Given the description of an element on the screen output the (x, y) to click on. 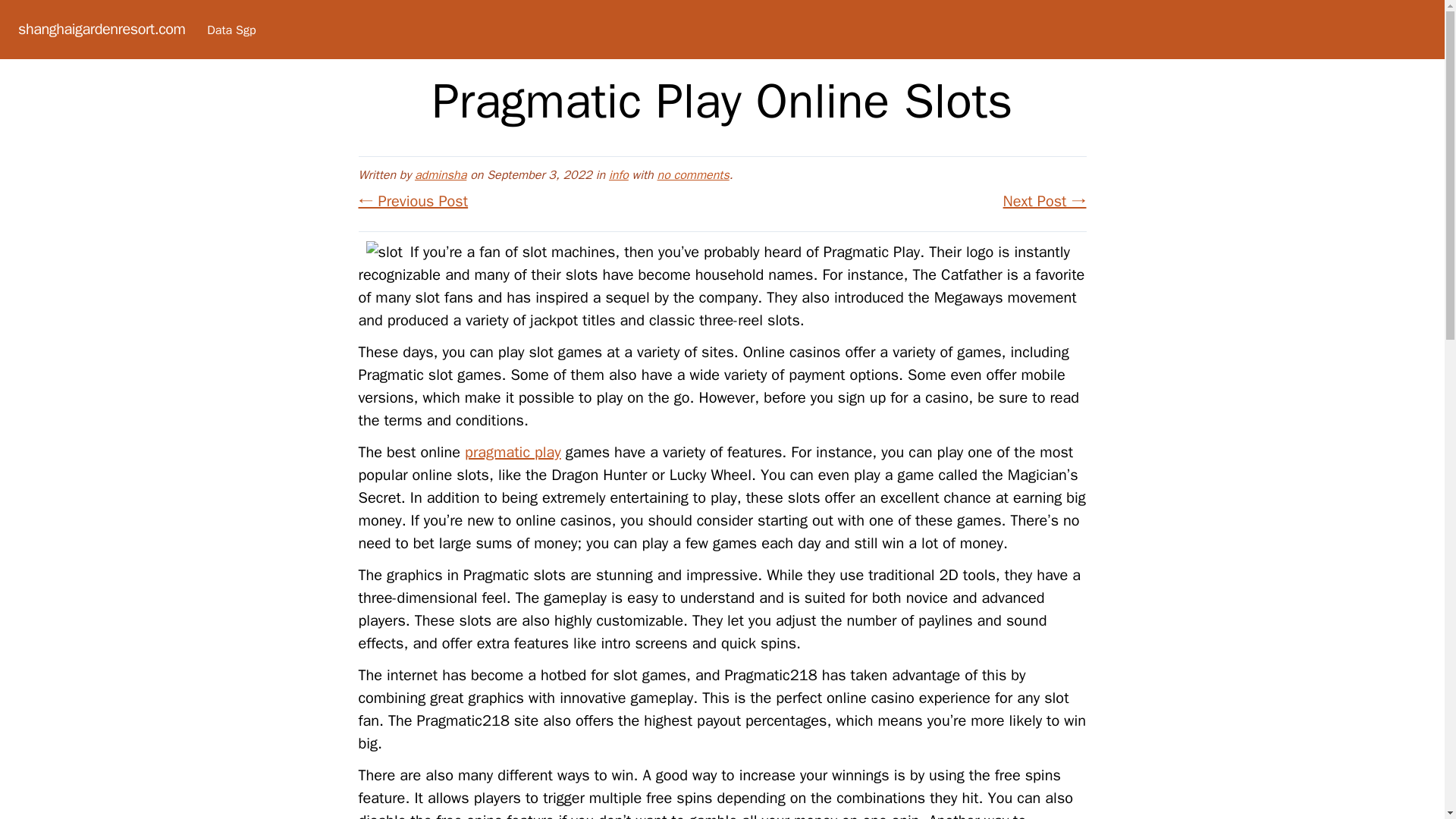
info (618, 174)
Data Sgp (231, 30)
shanghaigardenresort.com (100, 29)
no comments (693, 174)
pragmatic play (512, 452)
adminsha (439, 174)
no comments (693, 174)
